Given the description of an element on the screen output the (x, y) to click on. 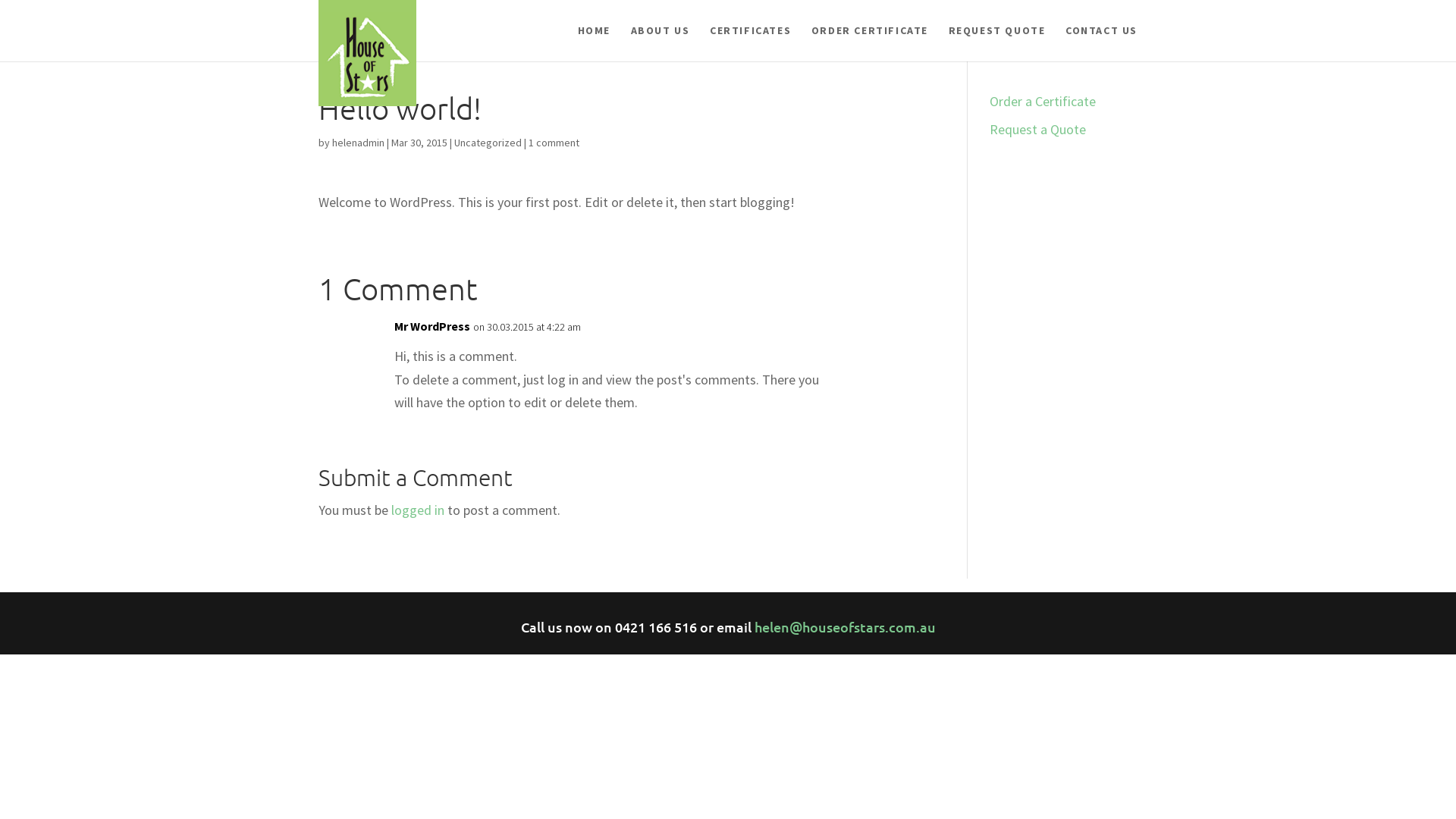
CONTACT US Element type: text (1101, 41)
Uncategorized Element type: text (487, 142)
Request a Quote Element type: text (1037, 129)
ABOUT US Element type: text (660, 41)
logged in Element type: text (417, 509)
helenadmin Element type: text (358, 142)
helen@houseofstars.com.au Element type: text (844, 626)
Order a Certificate Element type: text (1042, 100)
REQUEST QUOTE Element type: text (996, 41)
HOME Element type: text (593, 41)
ORDER CERTIFICATE Element type: text (869, 41)
Mr WordPress Element type: text (432, 326)
CERTIFICATES Element type: text (749, 41)
1 comment Element type: text (553, 142)
